Given the description of an element on the screen output the (x, y) to click on. 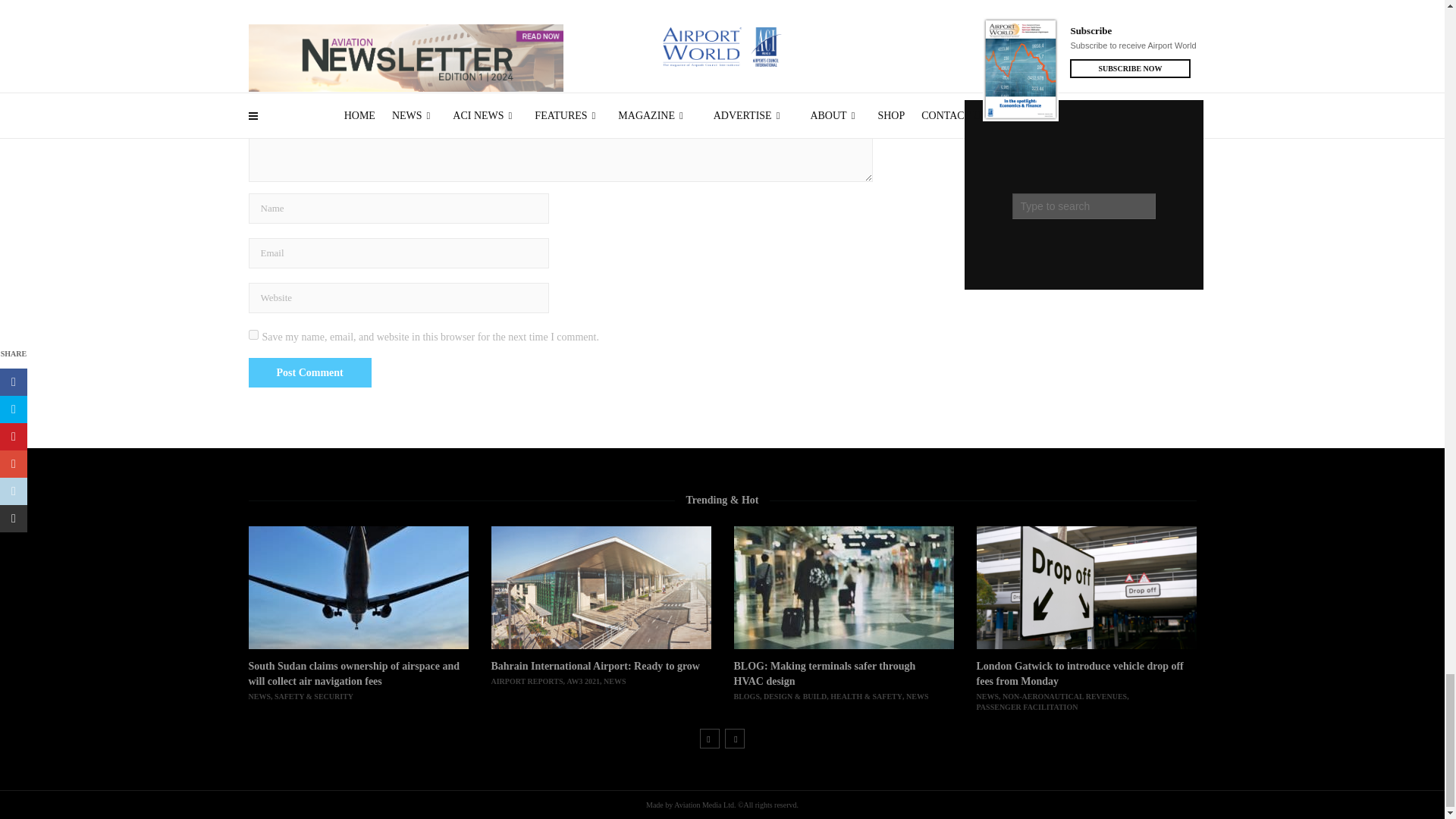
Post Comment (309, 372)
yes (253, 334)
